Given the description of an element on the screen output the (x, y) to click on. 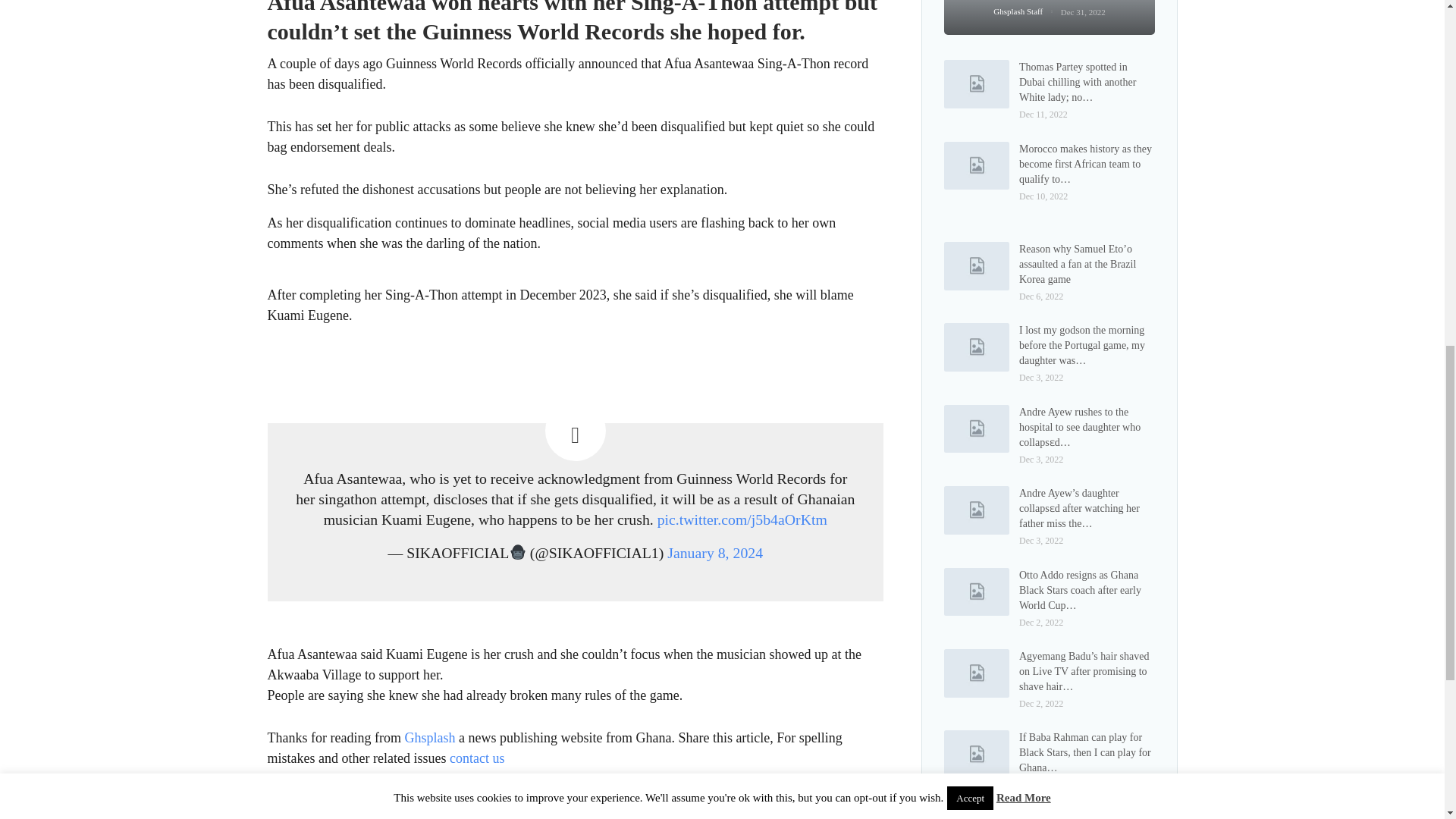
Click to share on WhatsApp (369, 815)
Click to share on Facebook (309, 815)
Browse Author Articles (1025, 11)
contact us (476, 758)
Click to share on Telegram (339, 815)
Click to share on Twitter (278, 815)
January 8, 2024 (714, 552)
Ghsplash Staff (1025, 11)
Ghsplash (429, 737)
